Given the description of an element on the screen output the (x, y) to click on. 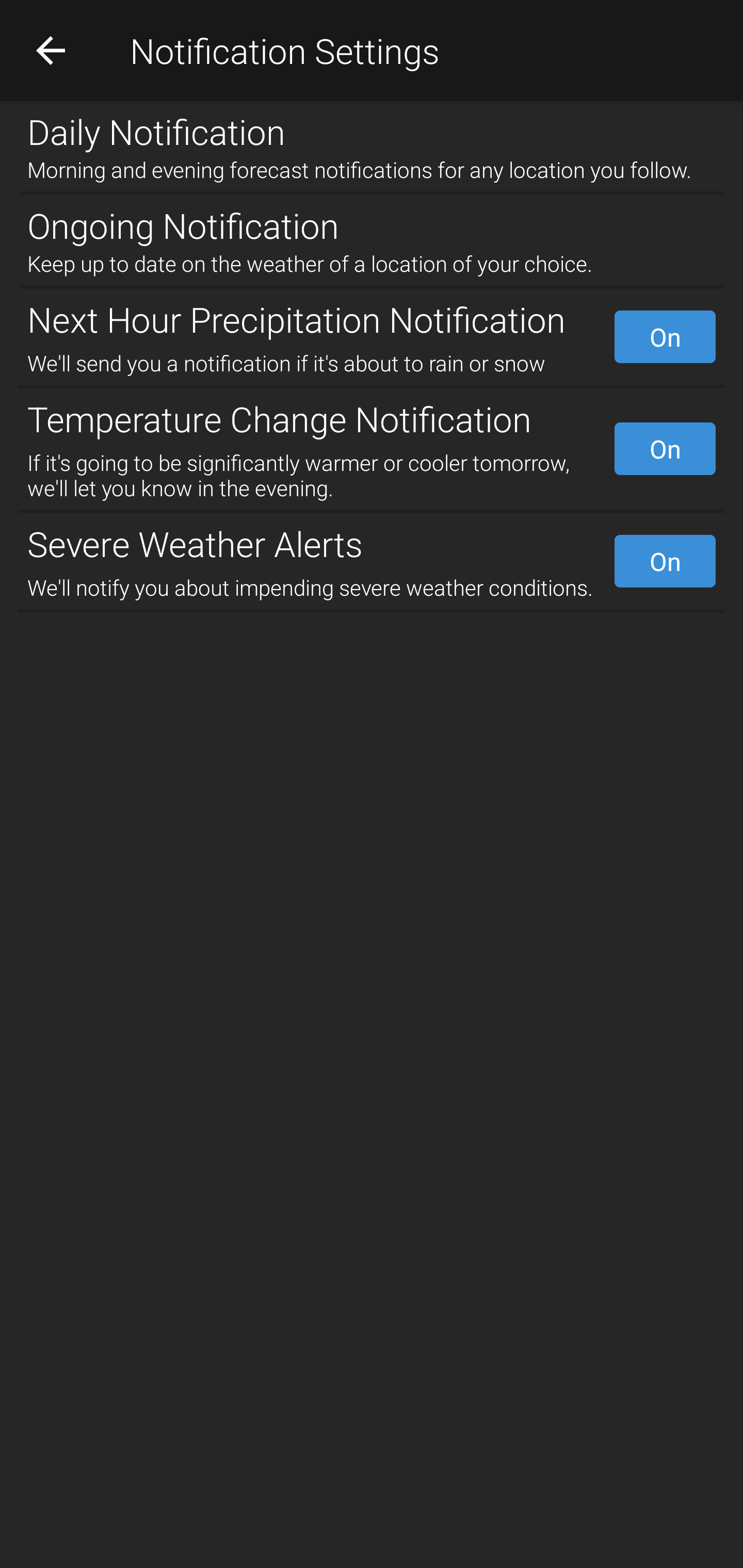
Navigate up (50, 50)
Daily Notification (371, 127)
Ongoing Notification (371, 221)
On (664, 336)
On (664, 448)
On (664, 561)
